Given the description of an element on the screen output the (x, y) to click on. 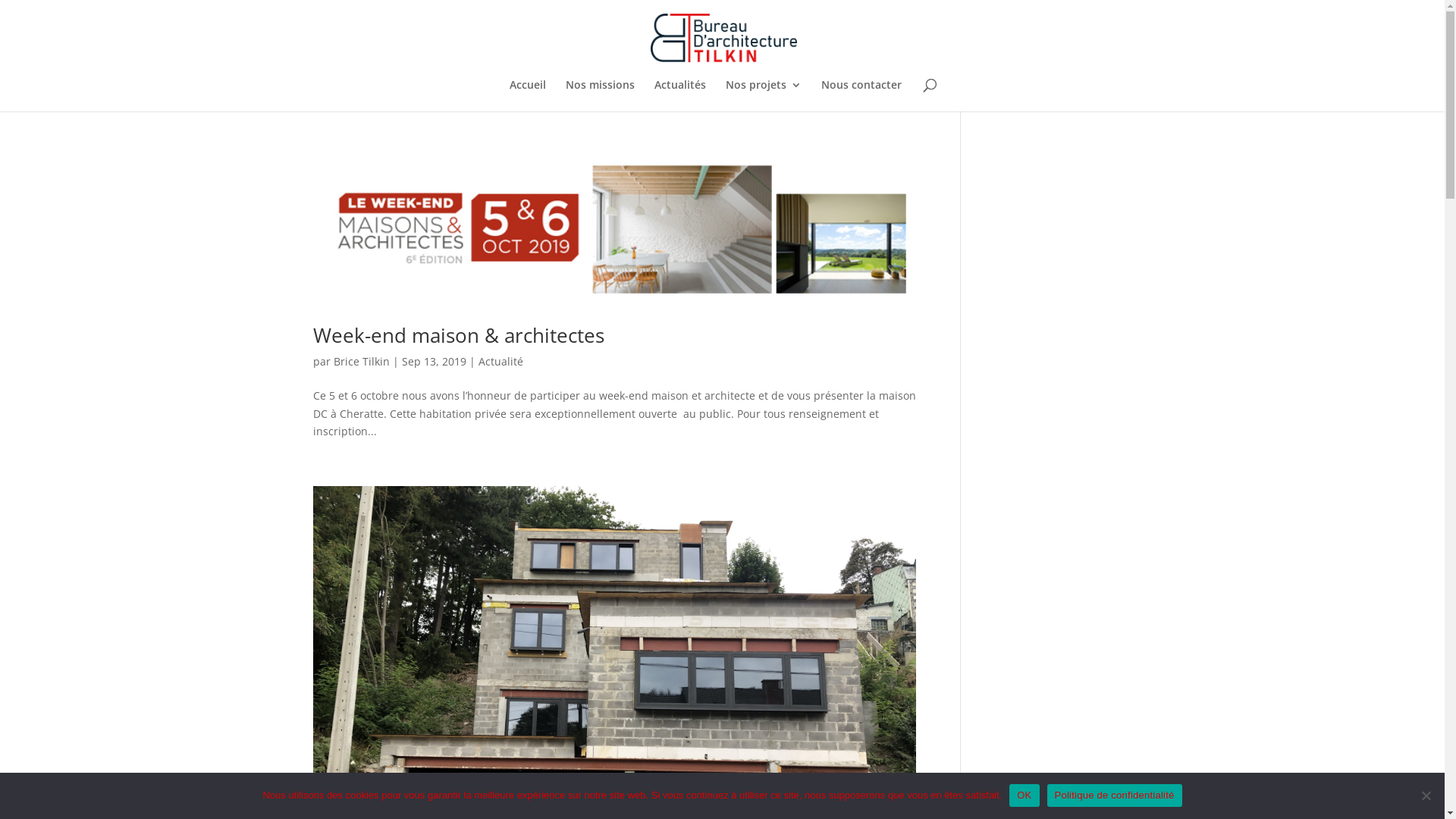
Week-end maison & architectes Element type: text (457, 334)
Nos projets Element type: text (763, 95)
Brice Tilkin Element type: text (361, 361)
OK Element type: text (1023, 795)
Nous contacter Element type: text (861, 95)
Nos missions Element type: text (599, 95)
Accueil Element type: text (527, 95)
